Given the description of an element on the screen output the (x, y) to click on. 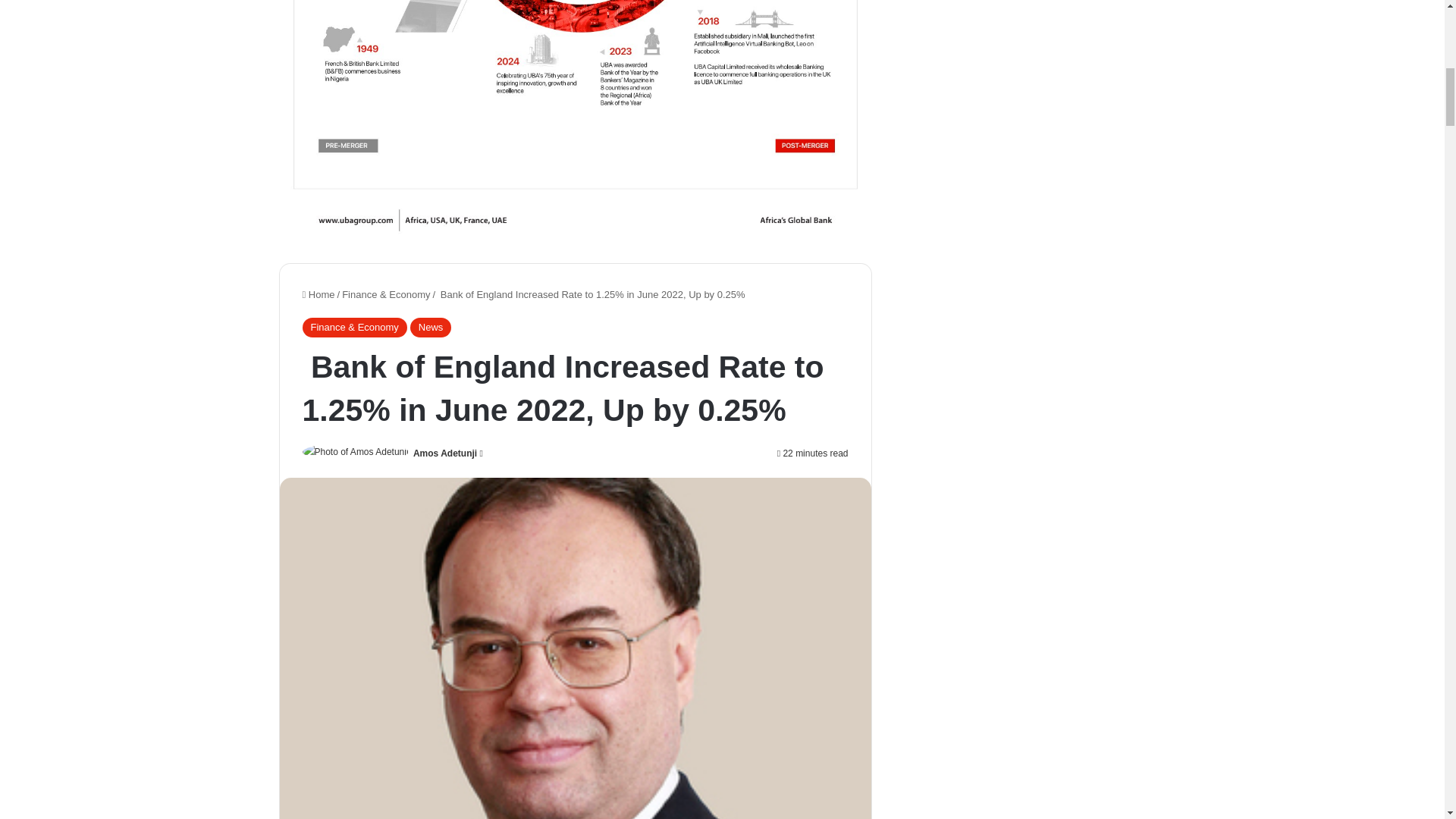
News (430, 327)
Amos Adetunji (445, 452)
Amos Adetunji (445, 452)
Home (317, 294)
